Given the description of an element on the screen output the (x, y) to click on. 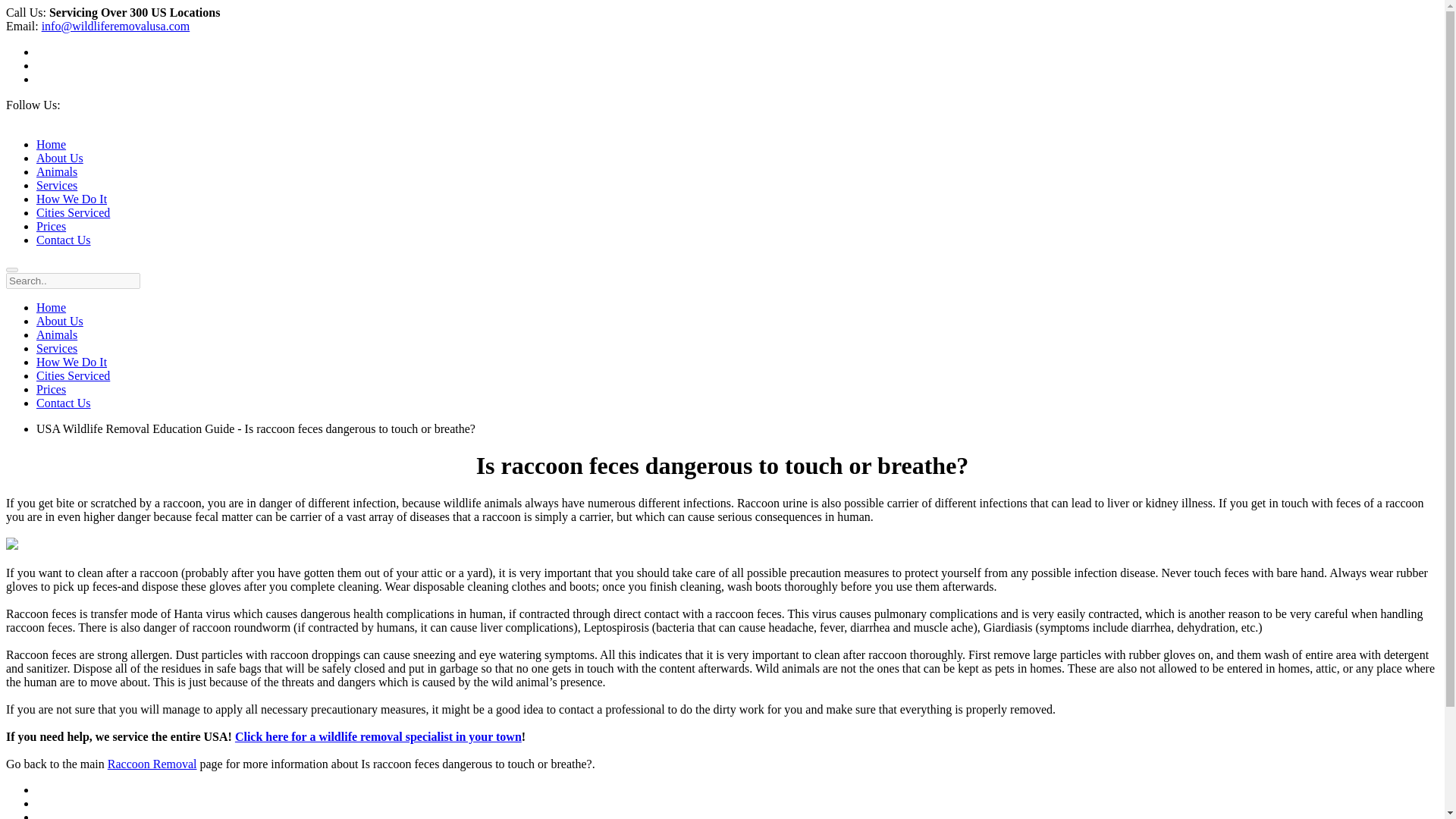
Contact Us (63, 239)
Raccoon Removal (151, 763)
Cities Serviced (73, 375)
Contact Us (63, 402)
Animals (56, 334)
Services (56, 348)
Click here for a wildlife removal specialist in your town (377, 736)
Services (56, 185)
Cities Serviced (73, 212)
How We Do It (71, 361)
How We Do It (71, 198)
Prices (50, 226)
Home (50, 144)
About Us (59, 320)
Prices (50, 389)
